Given the description of an element on the screen output the (x, y) to click on. 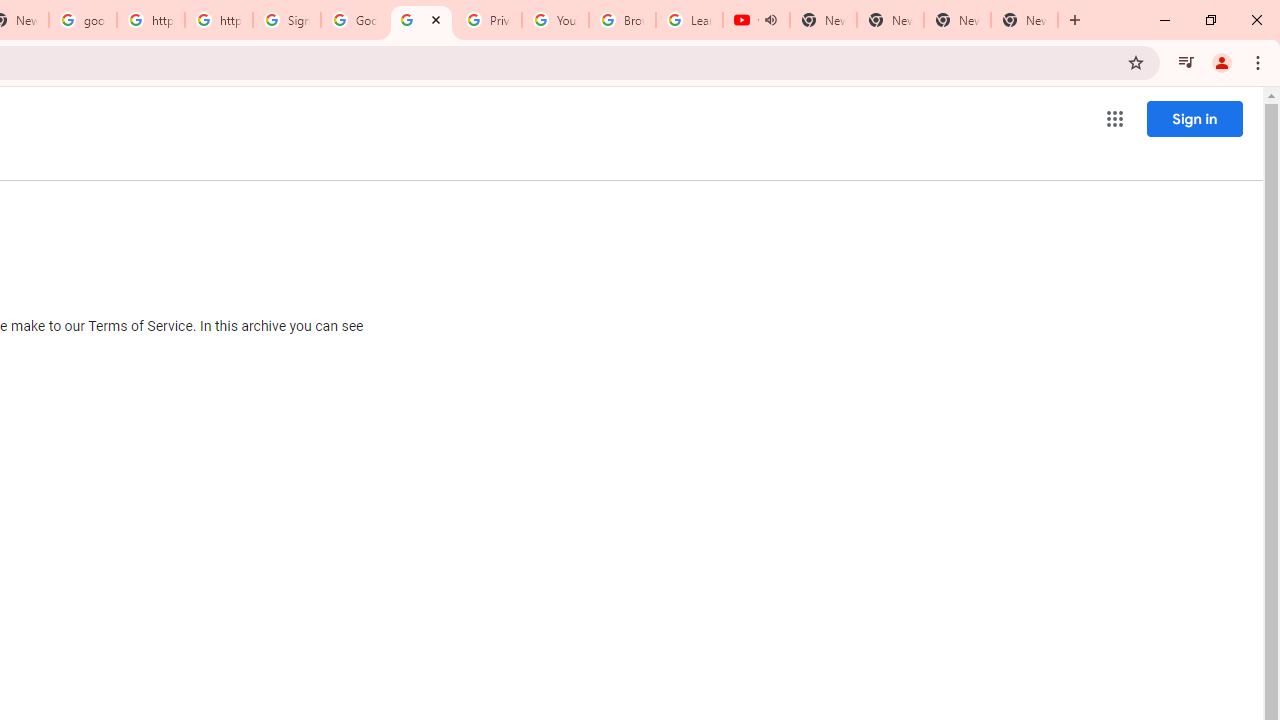
YouTube (555, 20)
